Given the description of an element on the screen output the (x, y) to click on. 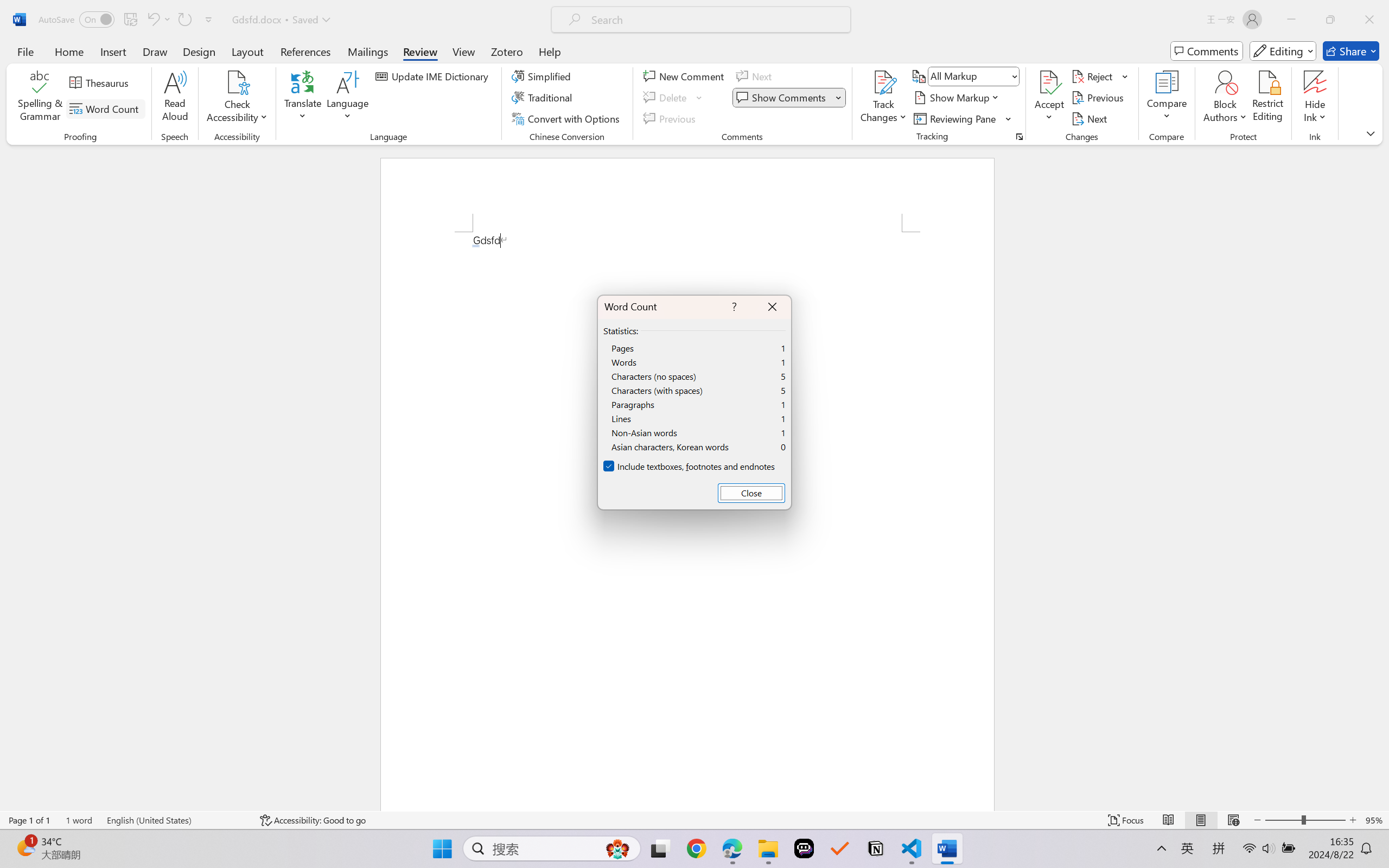
Zoom 95% (1374, 819)
Language (347, 97)
Accept (1049, 97)
Show Comments (782, 97)
Class: MsoCommandBar (694, 819)
Thesaurus... (101, 82)
